Given the description of an element on the screen output the (x, y) to click on. 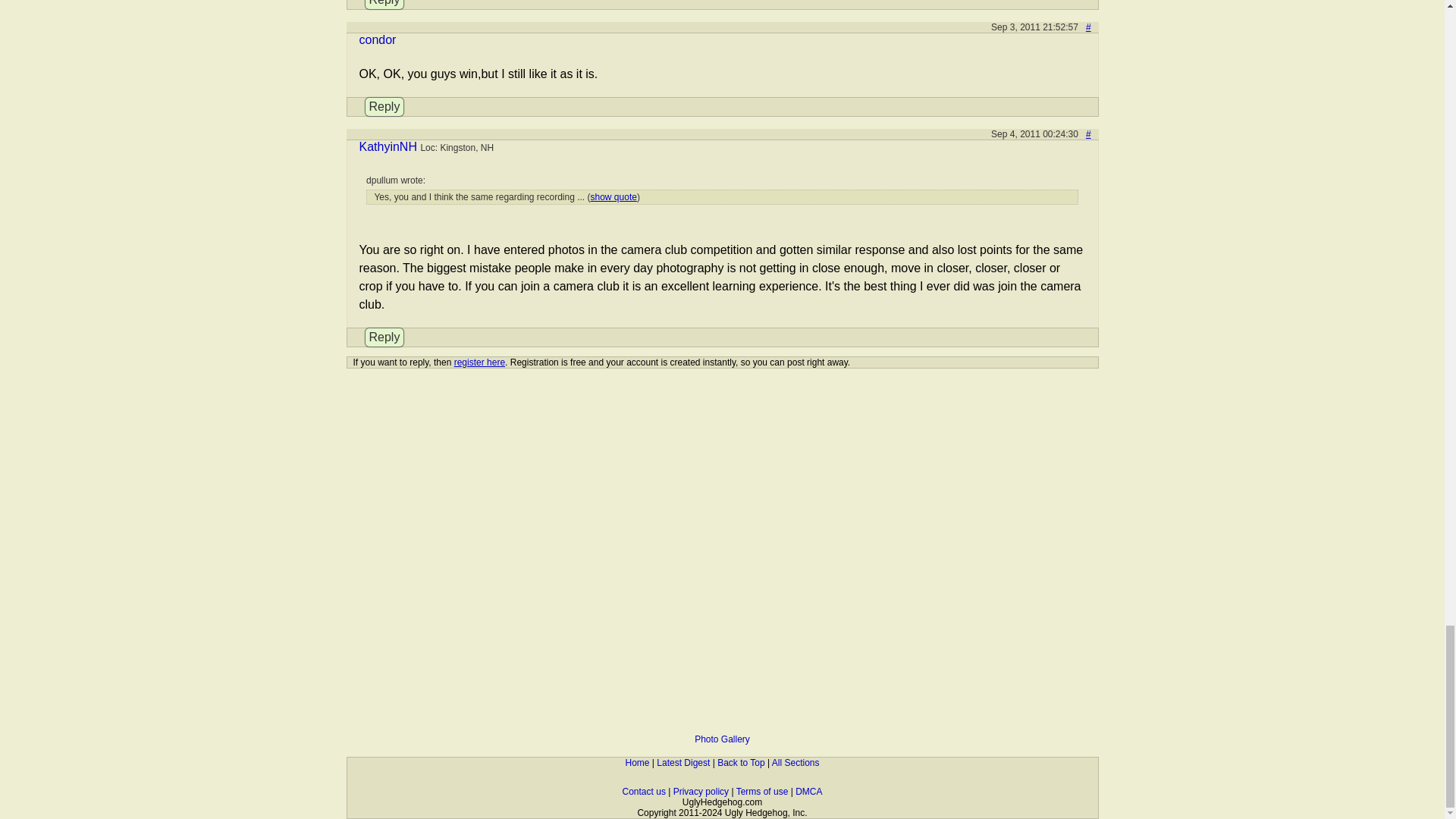
KathyinNH (387, 146)
condor (377, 39)
Reply (384, 4)
Reply (384, 106)
